Given the description of an element on the screen output the (x, y) to click on. 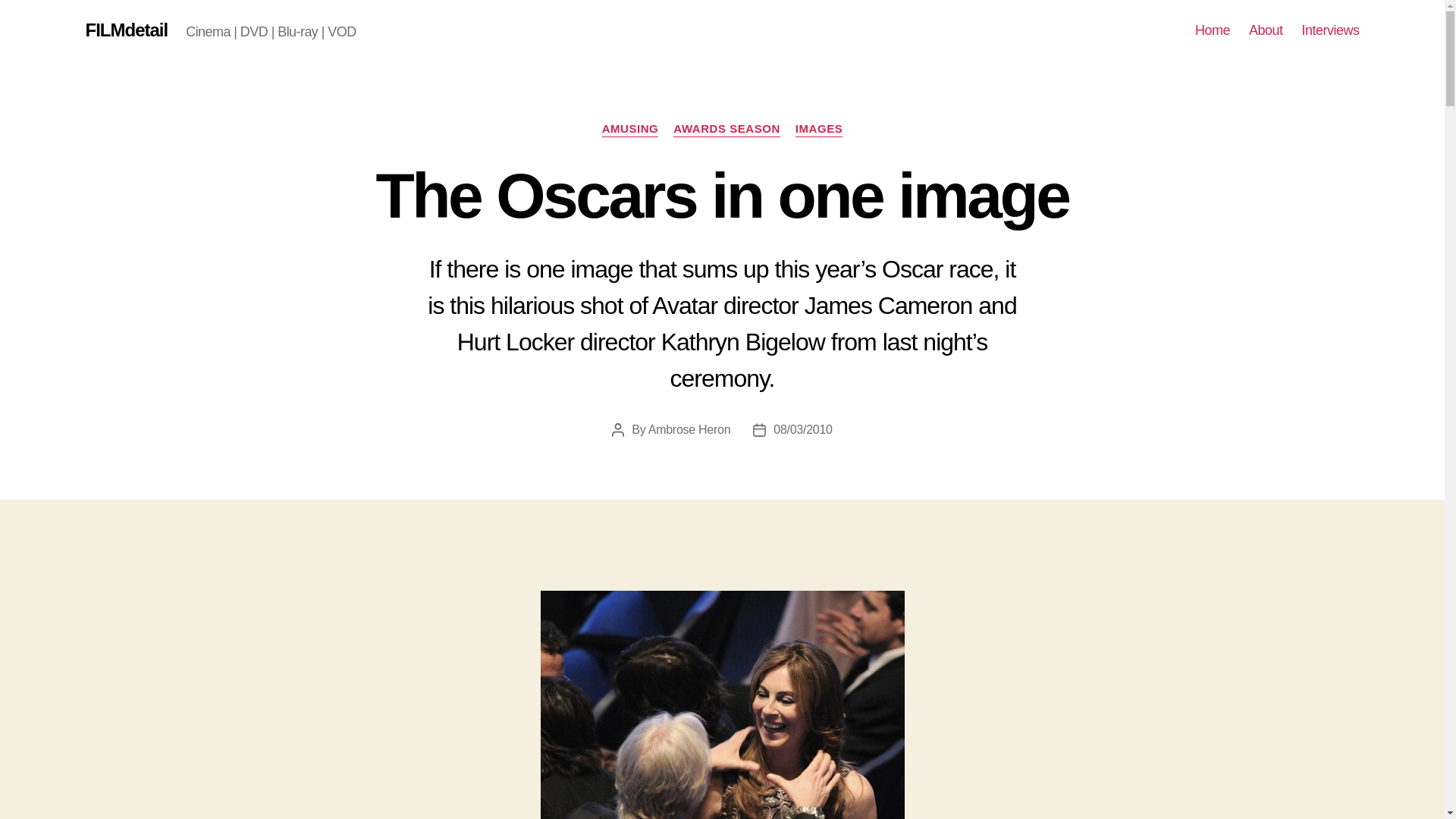
About (1265, 30)
Ambrose Heron (688, 429)
AWARDS SEASON (726, 129)
Home (1212, 30)
FILMdetail (125, 30)
IMAGES (818, 129)
James Cameron vs Kathryn Bigelow (722, 704)
AMUSING (630, 129)
Interviews (1329, 30)
